Given the description of an element on the screen output the (x, y) to click on. 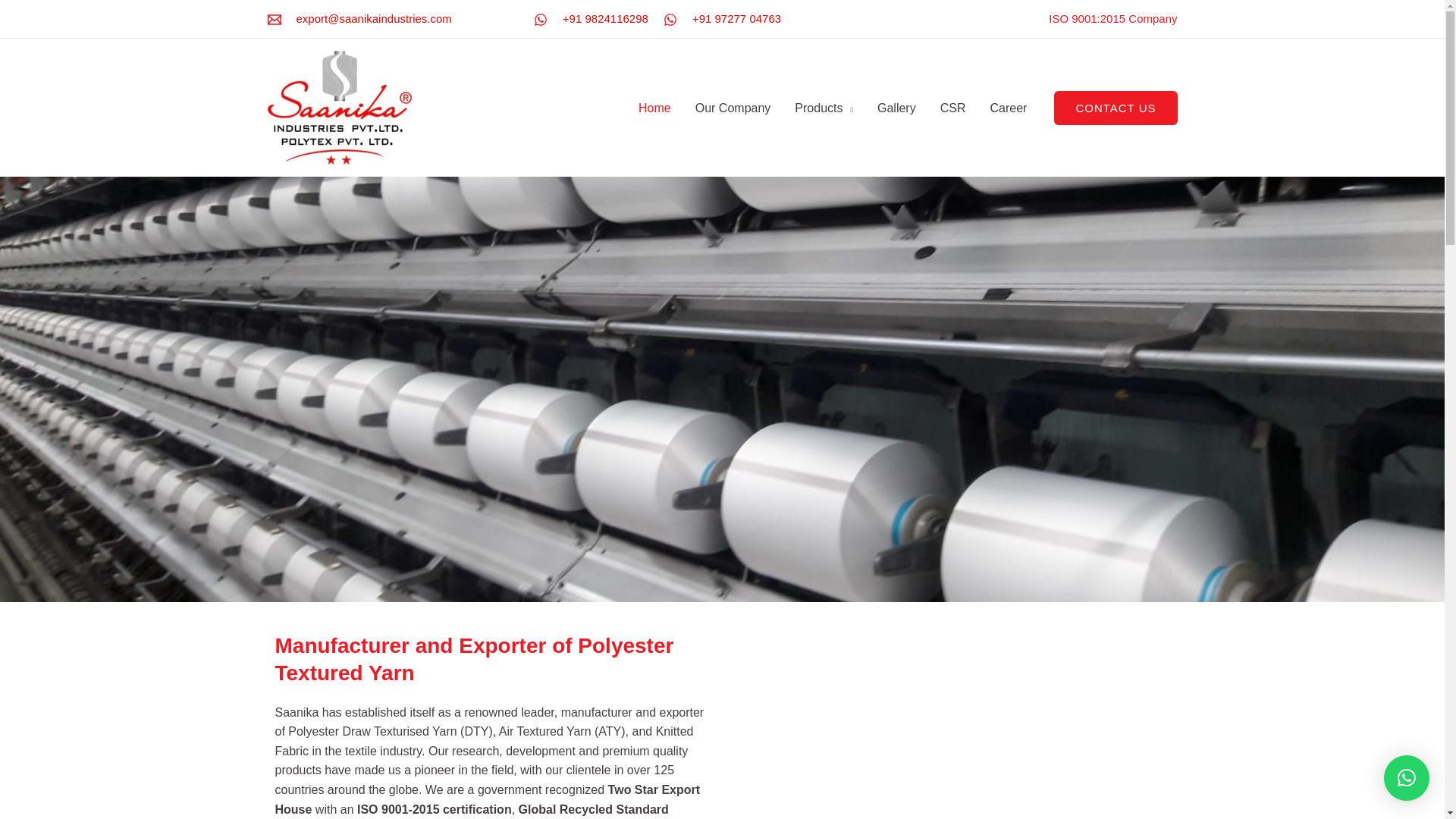
CONTACT US (1115, 107)
Our Company (732, 107)
